Given the description of an element on the screen output the (x, y) to click on. 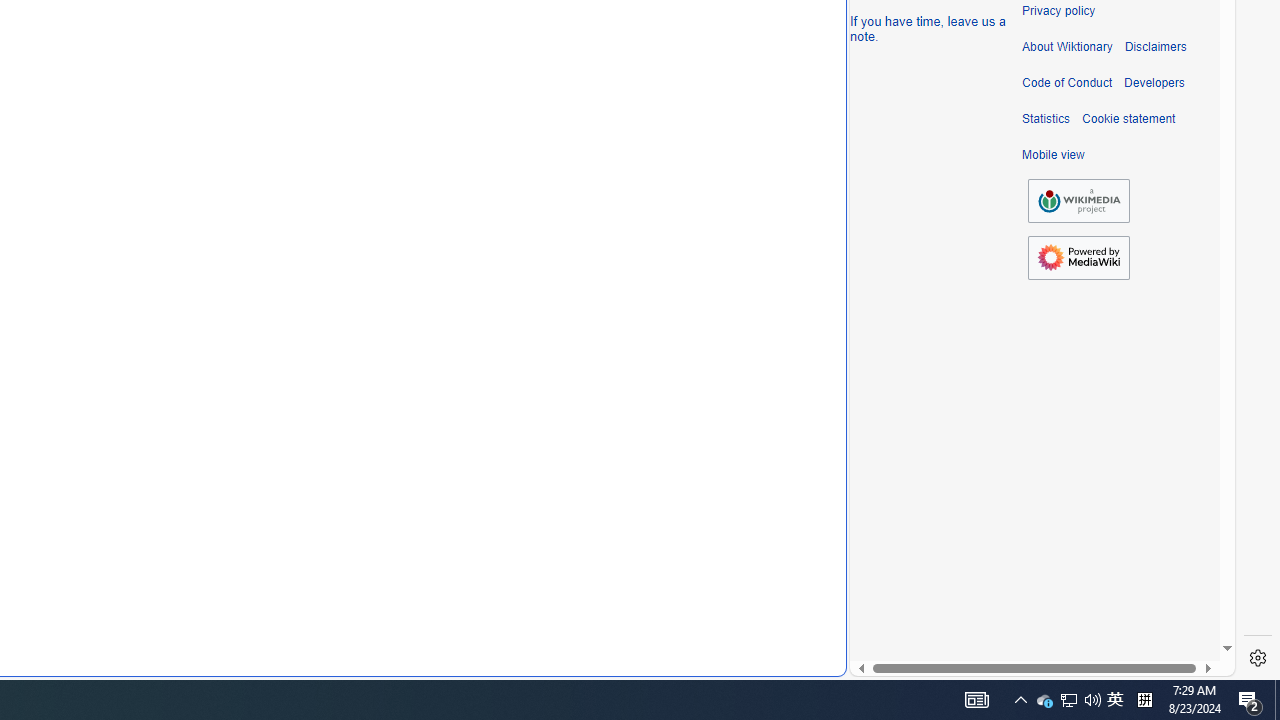
Powered by MediaWiki (1078, 257)
google_privacy_policy_zh-CN.pdf (687, 482)
Actions for this site (1129, 306)
Developers (1154, 83)
If you have time, leave us a note. (927, 27)
Wikimedia Foundation (1078, 200)
Statistics (1046, 119)
Developers (1154, 83)
